Given the description of an element on the screen output the (x, y) to click on. 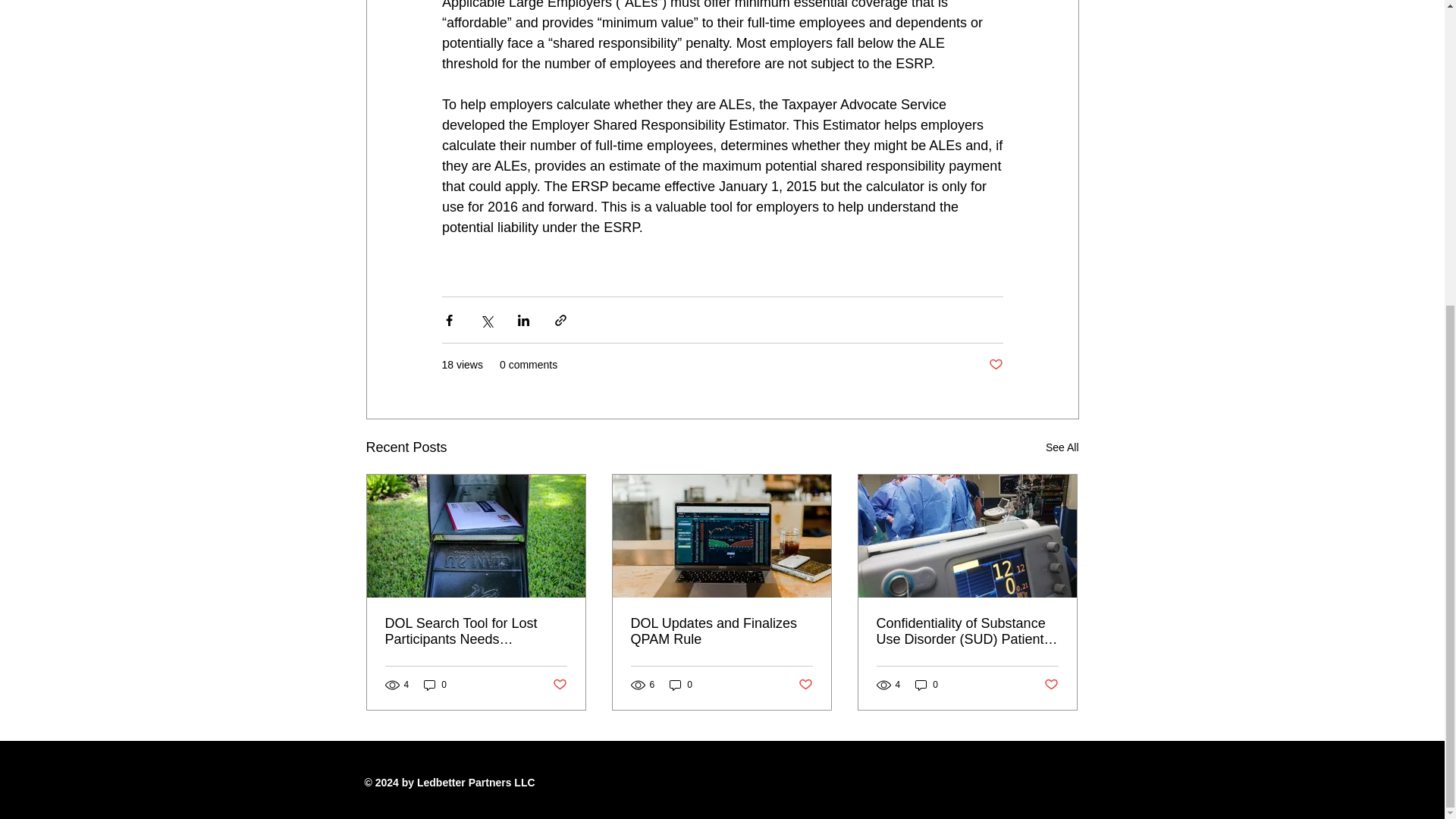
0 (435, 685)
Post not marked as liked (995, 365)
Post not marked as liked (558, 684)
DOL Updates and Finalizes QPAM Rule (721, 631)
0 (926, 685)
0 (681, 685)
Post not marked as liked (1050, 684)
See All (1061, 447)
Post not marked as liked (804, 684)
